Given the description of an element on the screen output the (x, y) to click on. 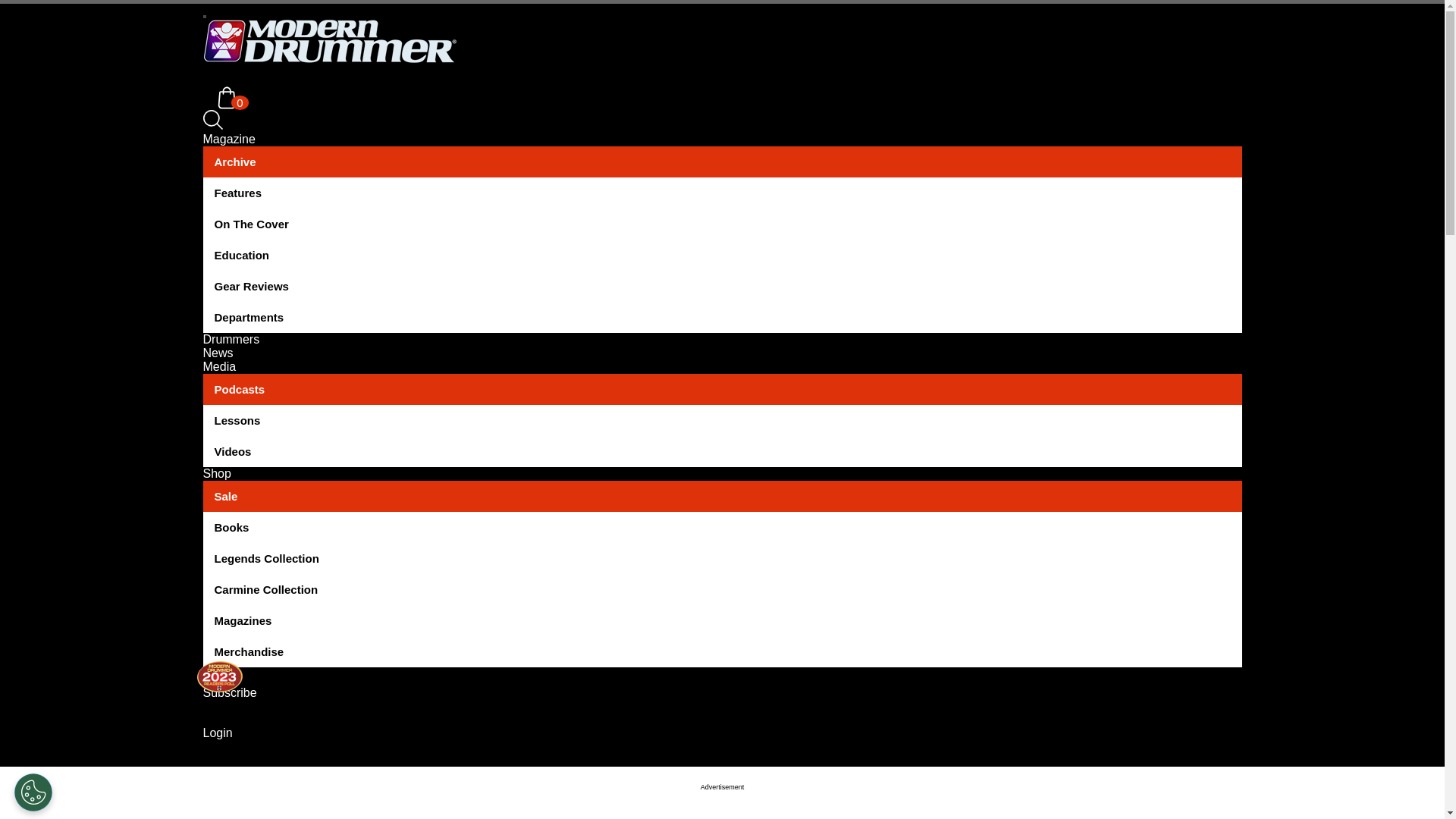
Archive (722, 161)
Education (722, 255)
Gear Reviews (722, 286)
Magazines (722, 620)
On The Cover (722, 223)
Books (722, 526)
Videos (722, 450)
Gear Reviews (722, 286)
Books (722, 526)
Merchandise (722, 651)
Magazines (722, 620)
Merchandise (722, 651)
On the Cover (722, 223)
Sale (722, 495)
Podcasts (722, 388)
